Given the description of an element on the screen output the (x, y) to click on. 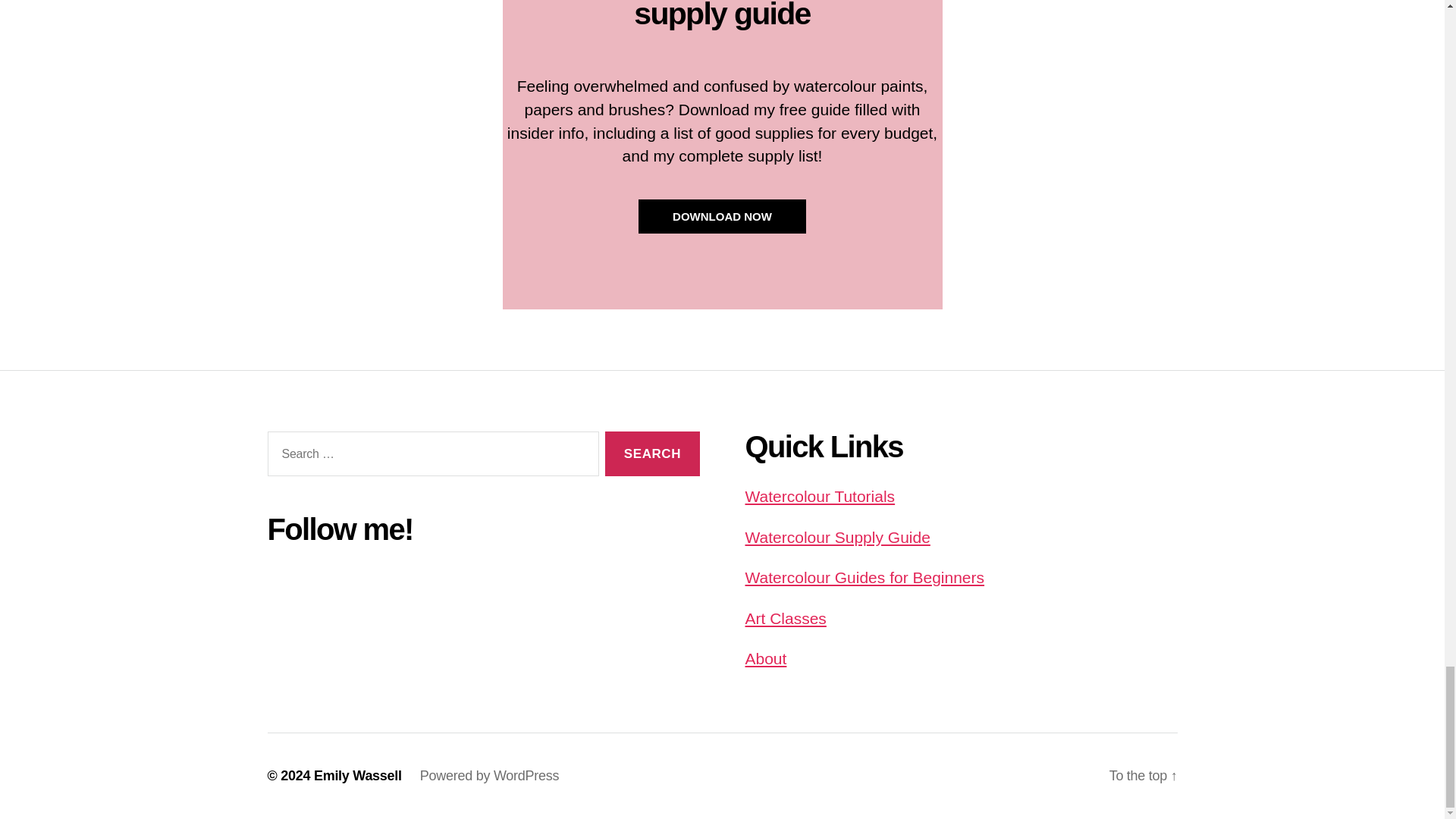
Search (651, 453)
Watercolour Supply Guide (837, 537)
Search (651, 453)
Art Classes (784, 618)
Watercolour Guides for Beginners (864, 577)
DOWNLOAD NOW (722, 216)
Search (651, 453)
Watercolour Tutorials (819, 496)
